Given the description of an element on the screen output the (x, y) to click on. 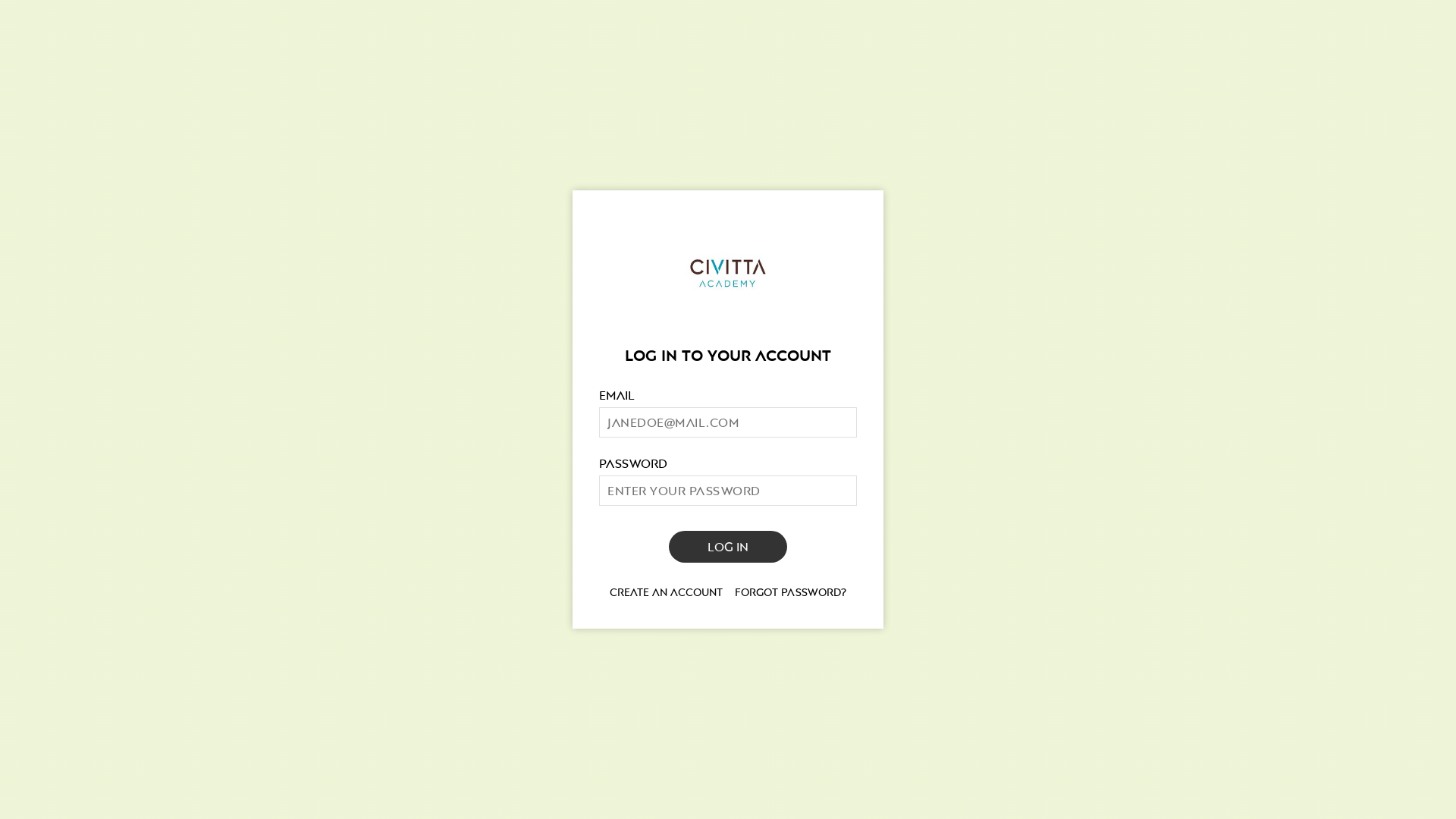
Create an account Element type: text (665, 591)
Forgot password? Element type: text (790, 591)
Log in Element type: text (727, 546)
